Given the description of an element on the screen output the (x, y) to click on. 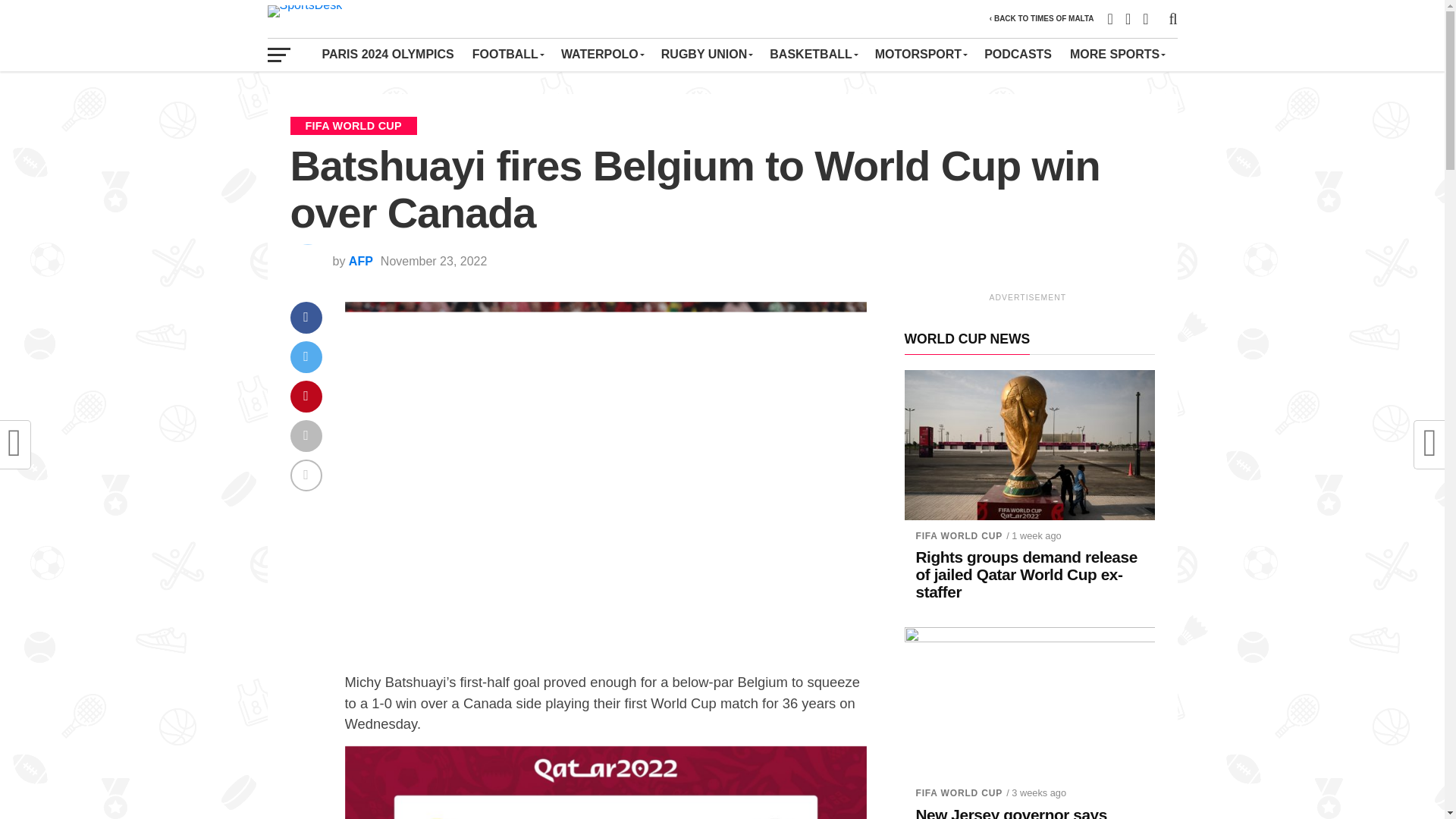
Posts by AFP (360, 260)
